Given the description of an element on the screen output the (x, y) to click on. 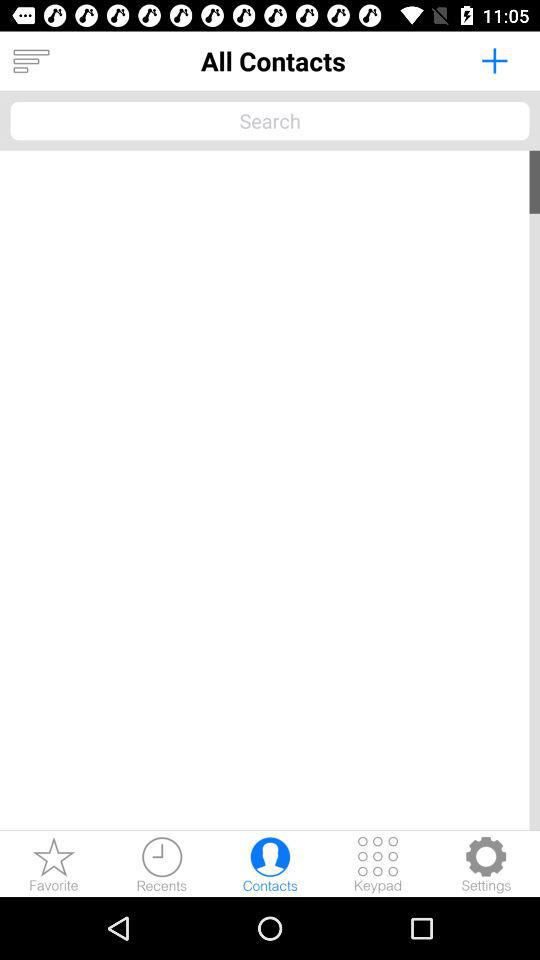
settings (485, 864)
